Given the description of an element on the screen output the (x, y) to click on. 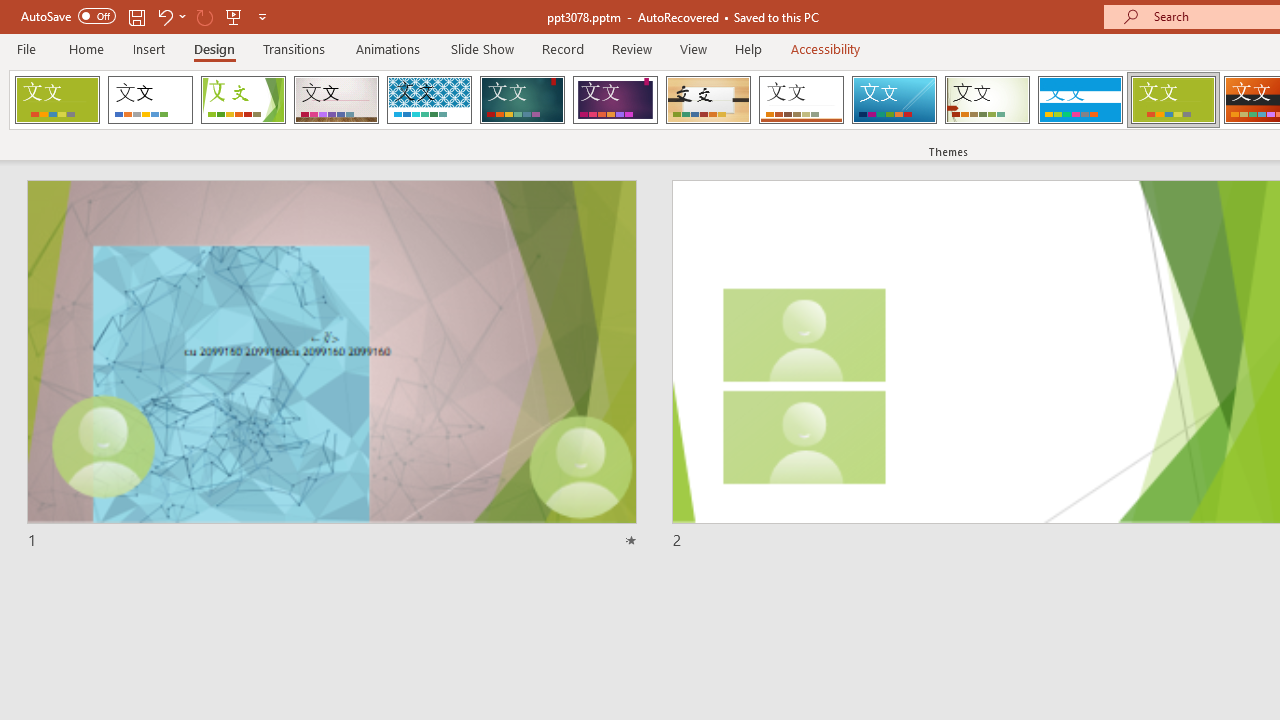
Organic (708, 100)
Banded (1080, 100)
Basis (1172, 100)
